Given the description of an element on the screen output the (x, y) to click on. 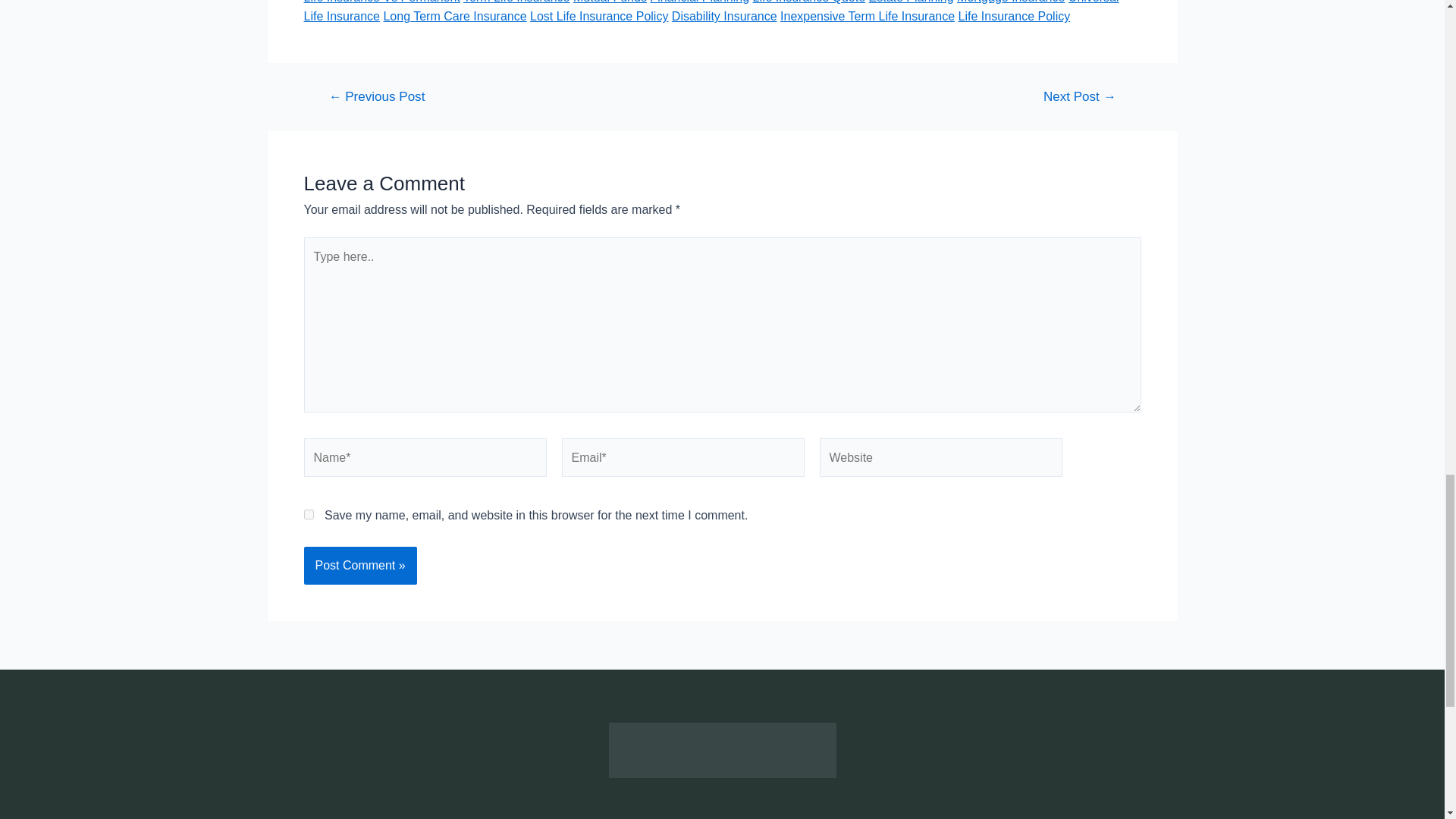
Level Term Life Insurance Quotes (376, 96)
Universal Life Insurance Policy (1079, 96)
yes (307, 514)
